Given the description of an element on the screen output the (x, y) to click on. 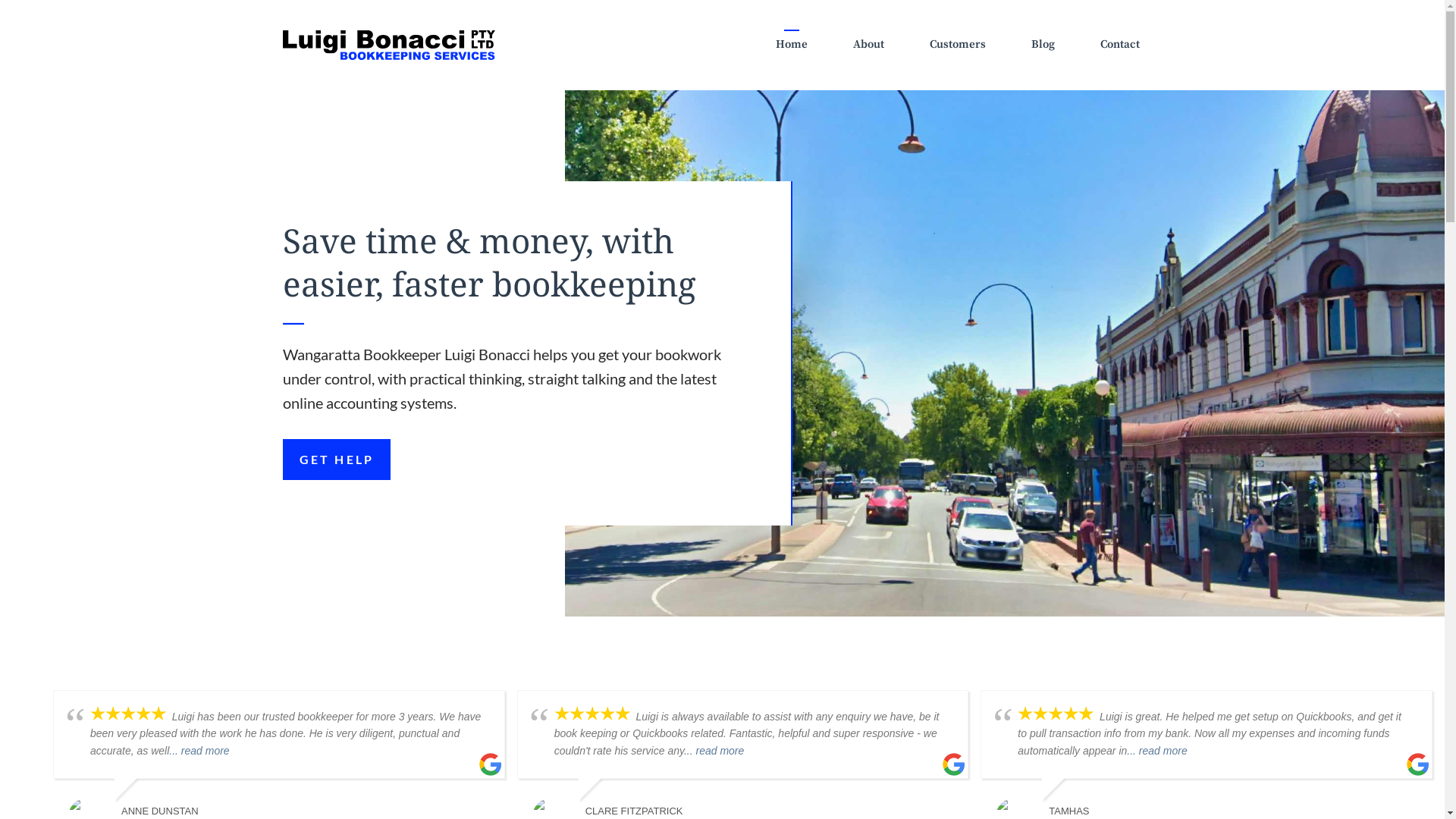
About Element type: text (867, 44)
... read more Element type: text (1156, 750)
GET HELP Element type: text (336, 459)
Customers Element type: text (957, 44)
Blog Element type: text (1042, 44)
Contact Element type: text (1118, 44)
... read more Element type: text (199, 750)
Home Element type: text (790, 44)
Wangaratta Bookkeeper & BAS Agent Luigi Bonacci Element type: hover (388, 44)
Wangaratta Bookkeeper & BAS Agent Luigi Bonacci Element type: hover (388, 42)
... read more Element type: text (713, 750)
